Given the description of an element on the screen output the (x, y) to click on. 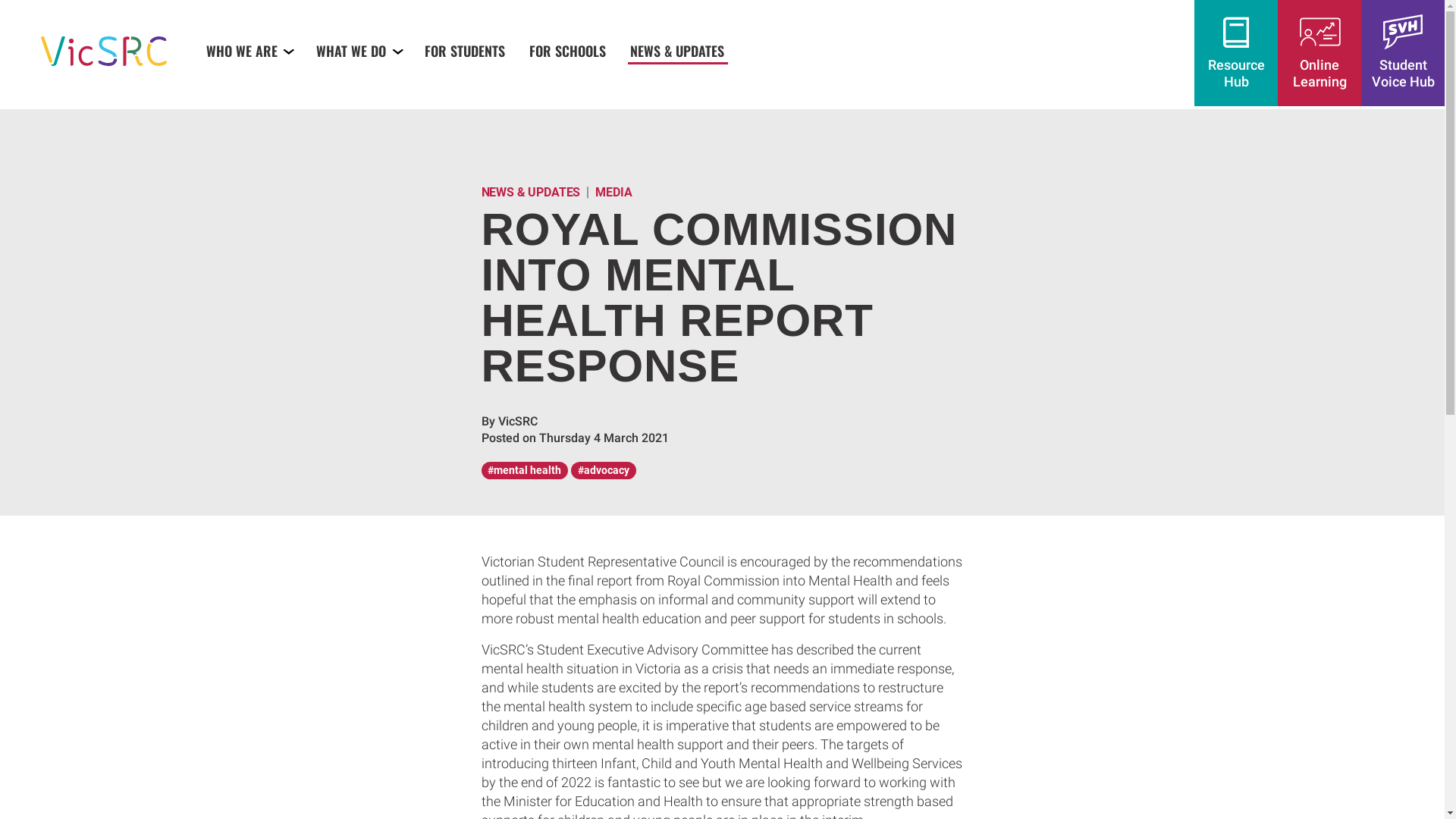
WHAT WE DO Element type: text (358, 49)
#mental health Element type: text (523, 470)
FOR SCHOOLS Element type: text (568, 49)
MEDIA Element type: text (613, 192)
NEWS & UPDATES Element type: text (530, 192)
Online Learning Element type: text (1319, 53)
NEWS & UPDATES Element type: text (677, 49)
FOR STUDENTS Element type: text (465, 49)
Resource Hub Element type: text (1235, 53)
Student Voice Hub Element type: text (1402, 53)
WHO WE ARE Element type: text (248, 49)
#advocacy Element type: text (603, 470)
